Given the description of an element on the screen output the (x, y) to click on. 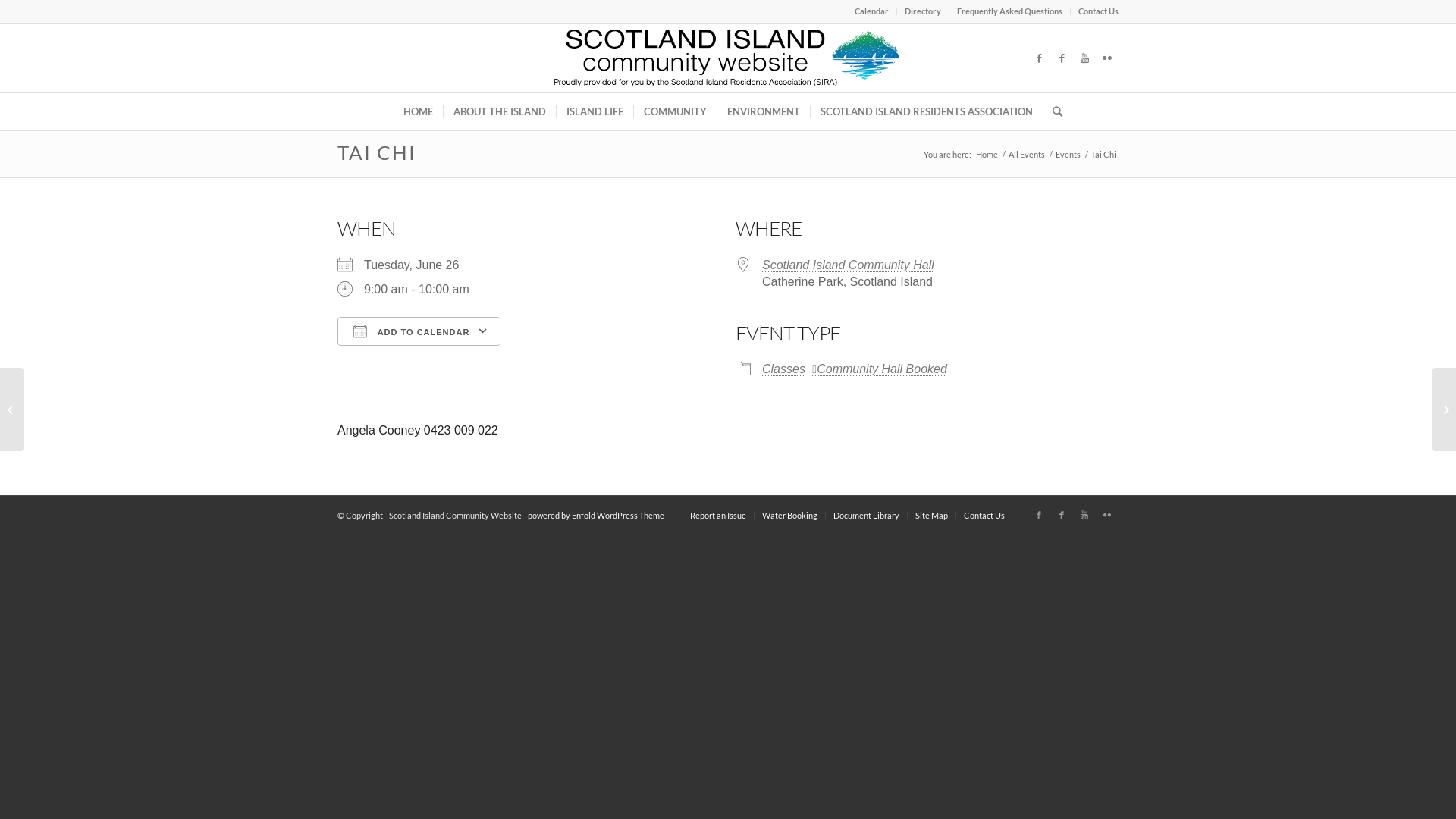
Water Booking Element type: text (789, 515)
Document Library Element type: text (866, 515)
Directory Element type: text (922, 10)
Classes Element type: text (783, 368)
TAI CHI Element type: text (376, 152)
Report an Issue Element type: text (718, 515)
HOME Element type: text (417, 111)
Frequently Asked Questions Element type: text (1009, 10)
Events Element type: text (1067, 154)
Youtube Element type: hover (1084, 514)
Facebook Element type: hover (1038, 514)
Home Element type: text (986, 154)
All Events Element type: text (1026, 154)
ENVIRONMENT Element type: text (762, 111)
powered by Enfold WordPress Theme Element type: text (595, 515)
ABOUT THE ISLAND Element type: text (498, 111)
Contact Us Element type: text (1098, 10)
Contact Us Element type: text (983, 515)
Flickr Element type: hover (1106, 57)
Site Map Element type: text (931, 515)
ADD TO CALENDAR Element type: text (418, 330)
Youtube Element type: hover (1084, 57)
Download ICS Element type: text (417, 357)
Calendar Element type: text (871, 10)
COMMUNITY Element type: text (674, 111)
SCOTLAND ISLAND RESIDENTS ASSOCIATION Element type: text (925, 111)
Flickr Element type: hover (1106, 514)
Facebook Element type: hover (1038, 57)
ISLAND LIFE Element type: text (594, 111)
Scotland Island Community Hall Element type: text (848, 264)
Facebook Element type: hover (1061, 57)
Facebook Element type: hover (1061, 514)
